Given the description of an element on the screen output the (x, y) to click on. 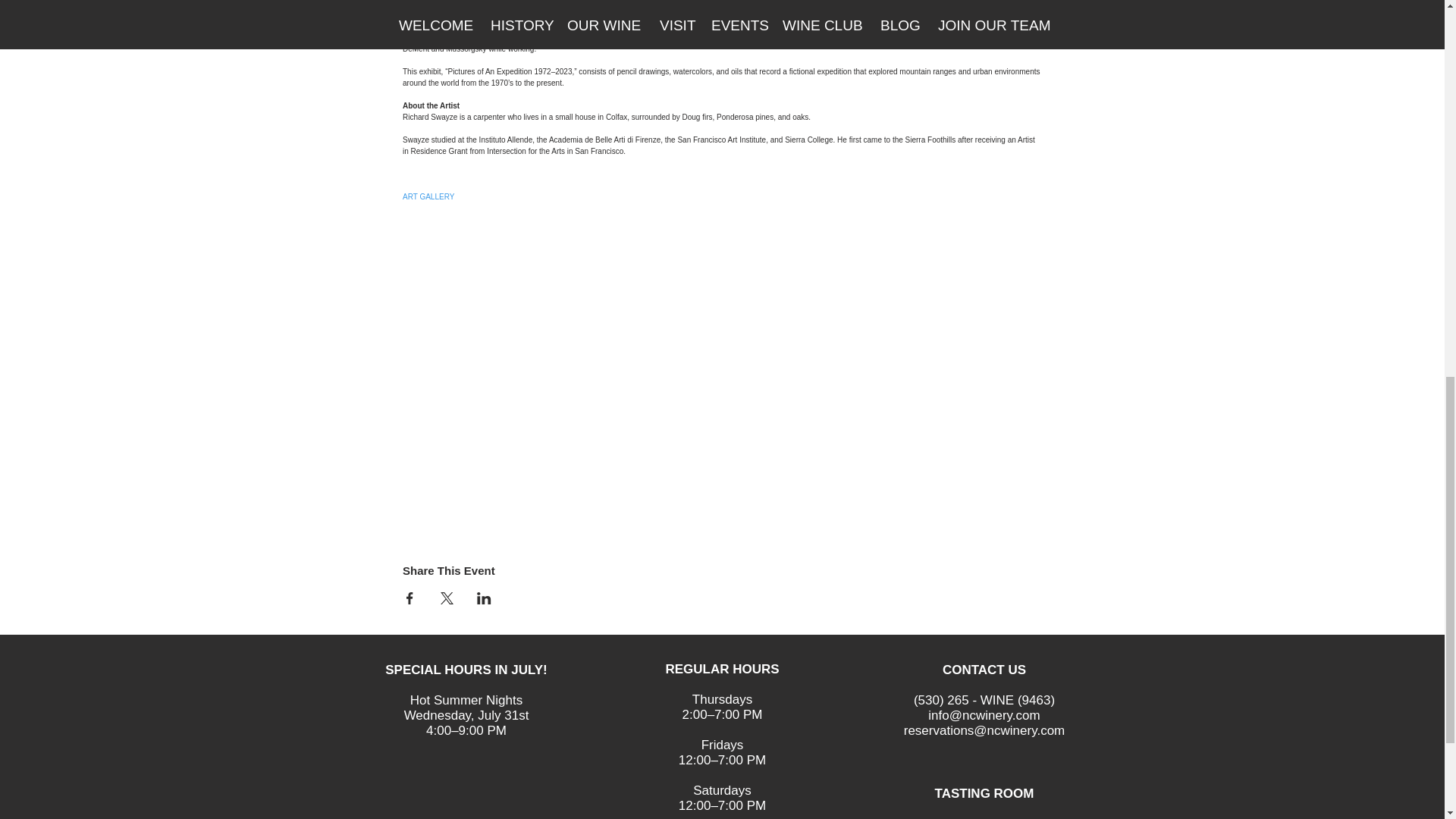
ART GALLERY (428, 196)
